Given the description of an element on the screen output the (x, y) to click on. 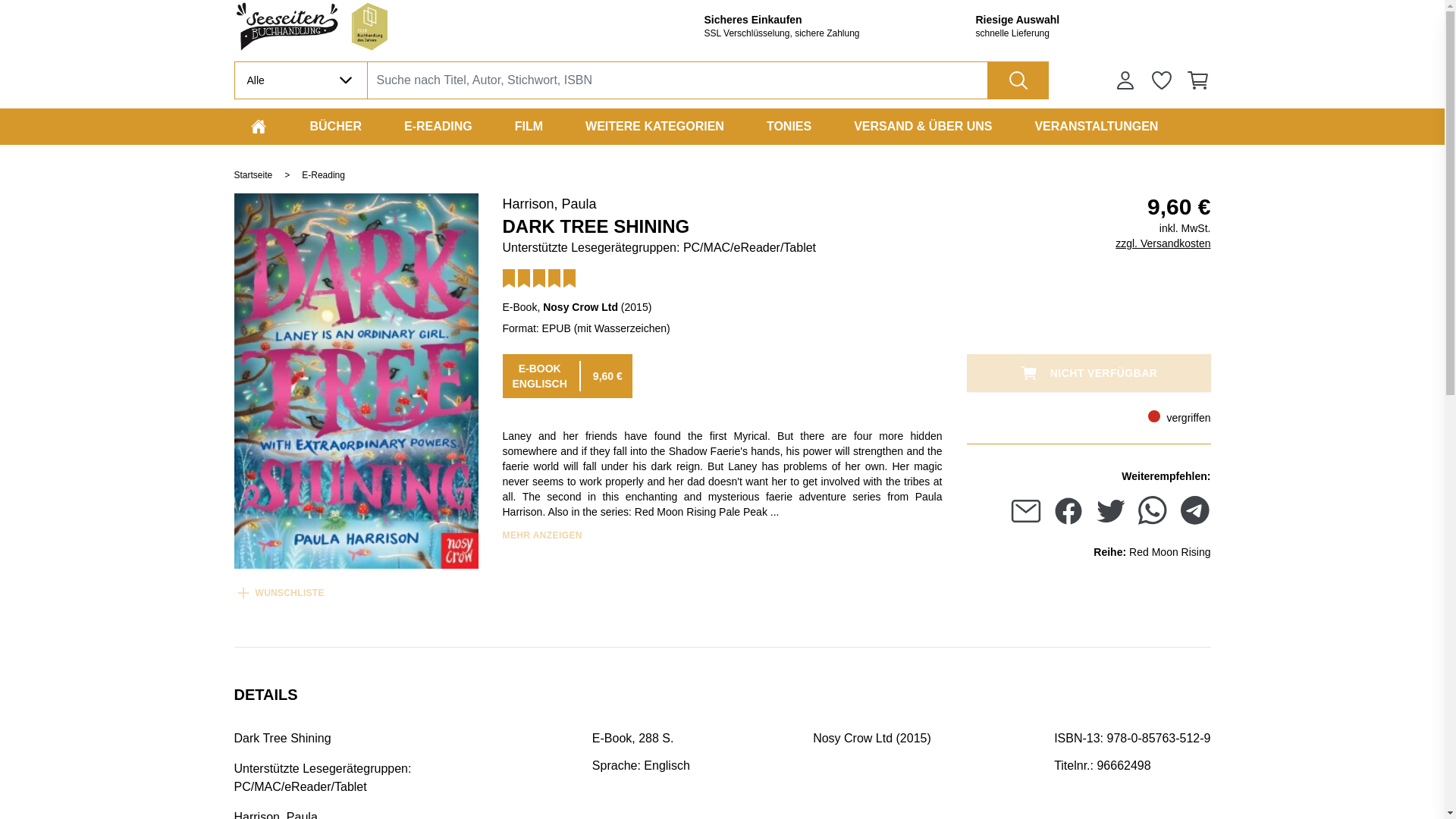
E-Reading (437, 126)
Tonies (789, 126)
schnelle Lieferung (1092, 33)
Startseite (252, 174)
Film (528, 126)
Nosy Crow Ltd (580, 306)
E-READING (437, 126)
Riesige Auswahl (1092, 19)
Red Moon Rising (1169, 554)
Sicheres Einkaufen (821, 19)
FILM (528, 126)
VERANSTALTUNGEN (1096, 126)
MEHR ANZEIGEN (541, 535)
TONIES (789, 126)
WUNSCHLISTE (277, 584)
